Given the description of an element on the screen output the (x, y) to click on. 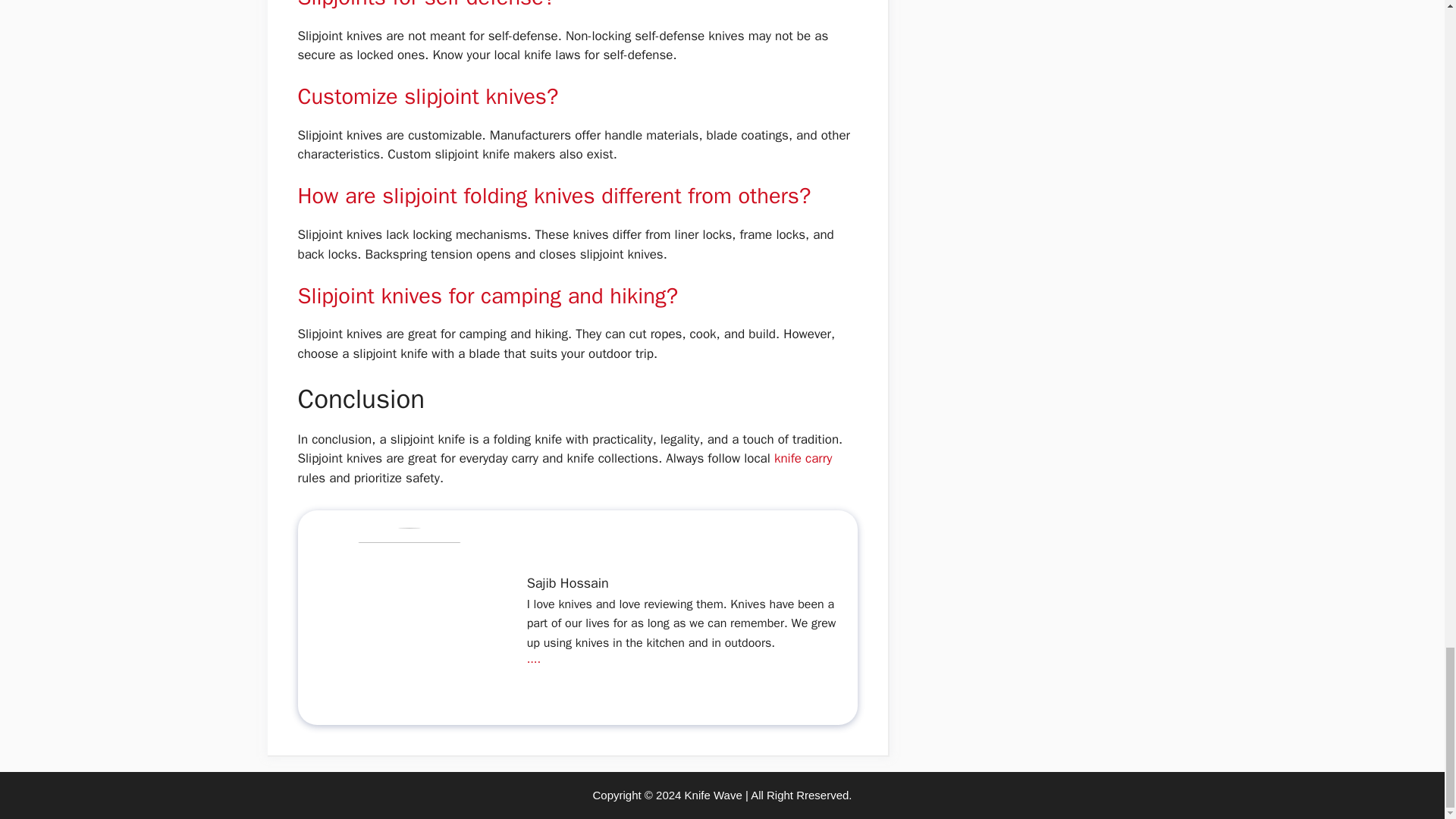
.... (533, 659)
knife carry (802, 458)
Read more about this author (533, 659)
